Given the description of an element on the screen output the (x, y) to click on. 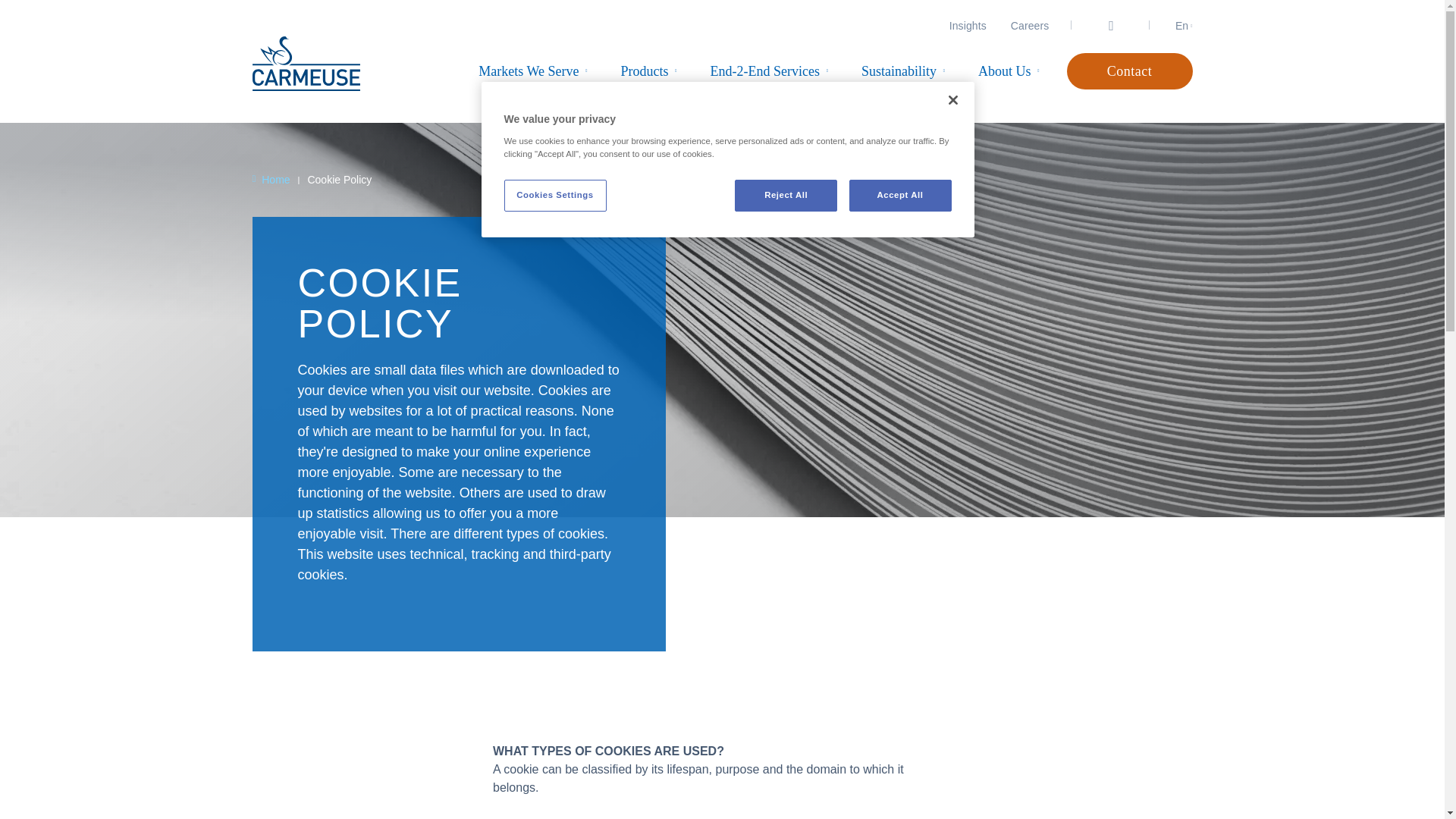
Markets We Serve (528, 70)
Insights (967, 25)
Products (644, 70)
Careers (1029, 25)
